Given the description of an element on the screen output the (x, y) to click on. 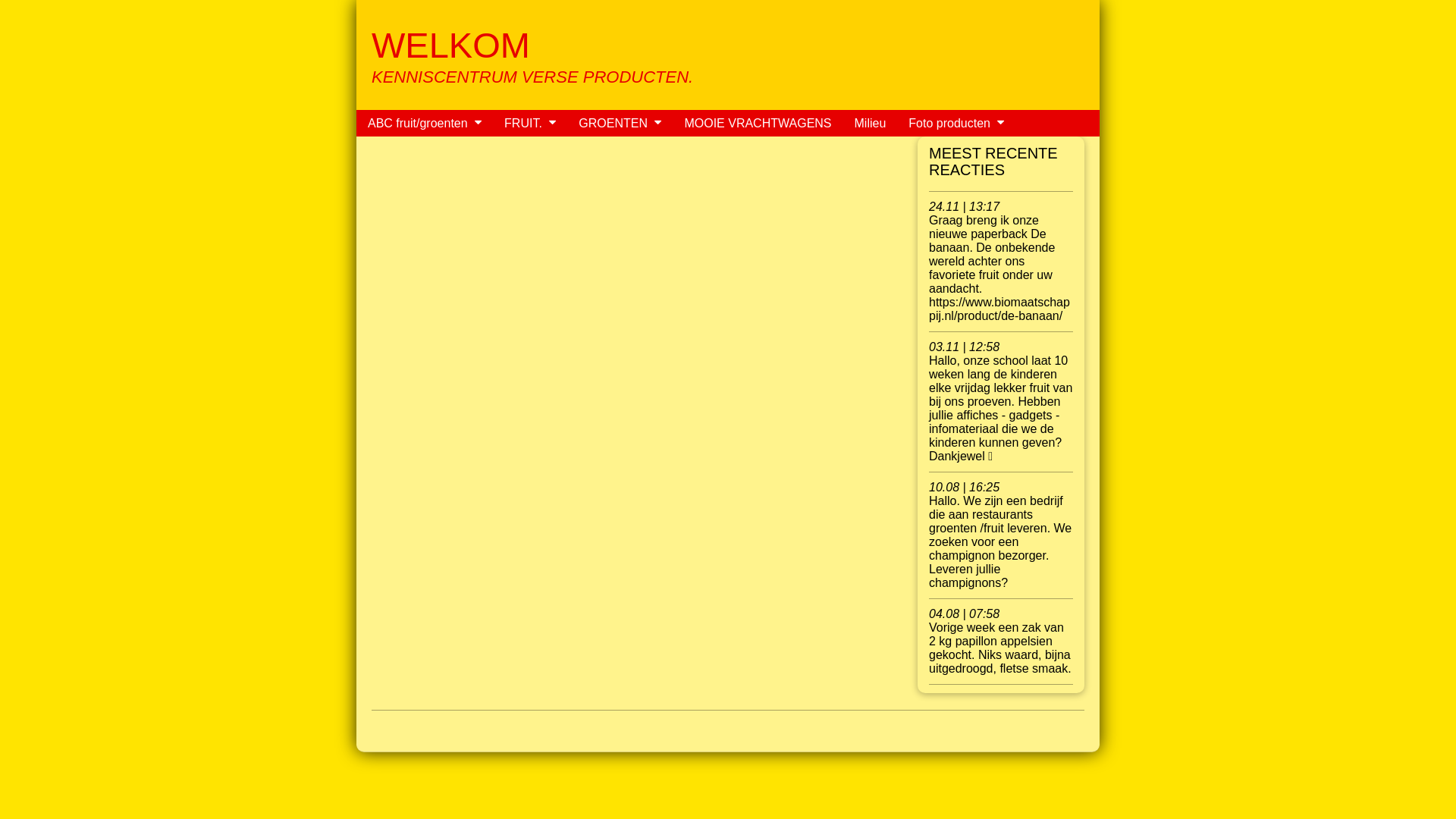
FRUIT. Element type: text (519, 122)
WELKOM Element type: text (450, 44)
Milieu Element type: text (870, 122)
Foto producten Element type: text (945, 122)
MOOIE VRACHTWAGENS Element type: text (757, 122)
GROENTEN Element type: text (609, 122)
ABC fruit/groenten Element type: text (413, 122)
